Given the description of an element on the screen output the (x, y) to click on. 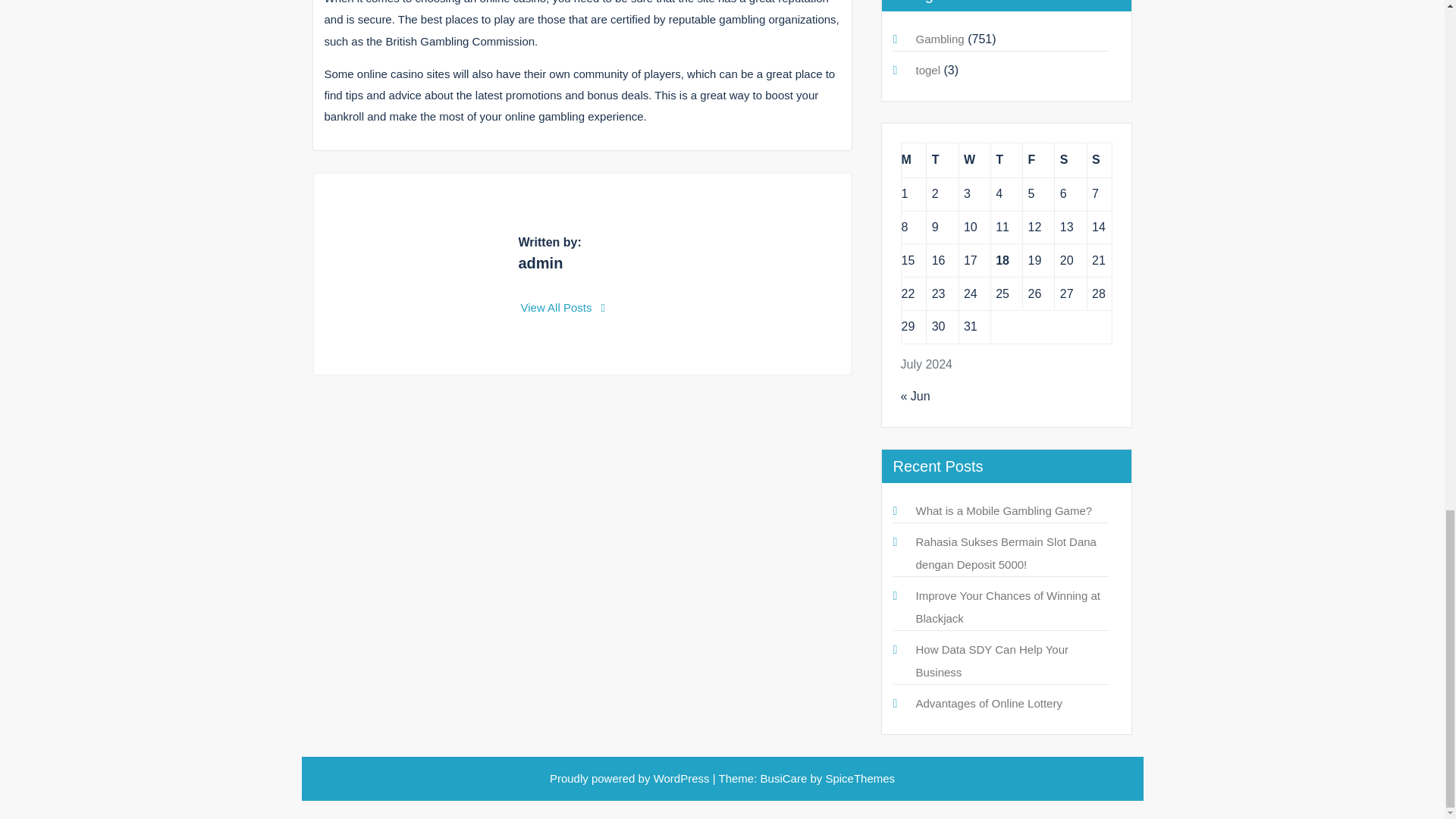
View All Posts (562, 307)
Thursday (1006, 160)
Tuesday (942, 160)
Saturday (1070, 160)
Gambling (939, 38)
Friday (1038, 160)
togel (927, 69)
Wednesday (974, 160)
